Given the description of an element on the screen output the (x, y) to click on. 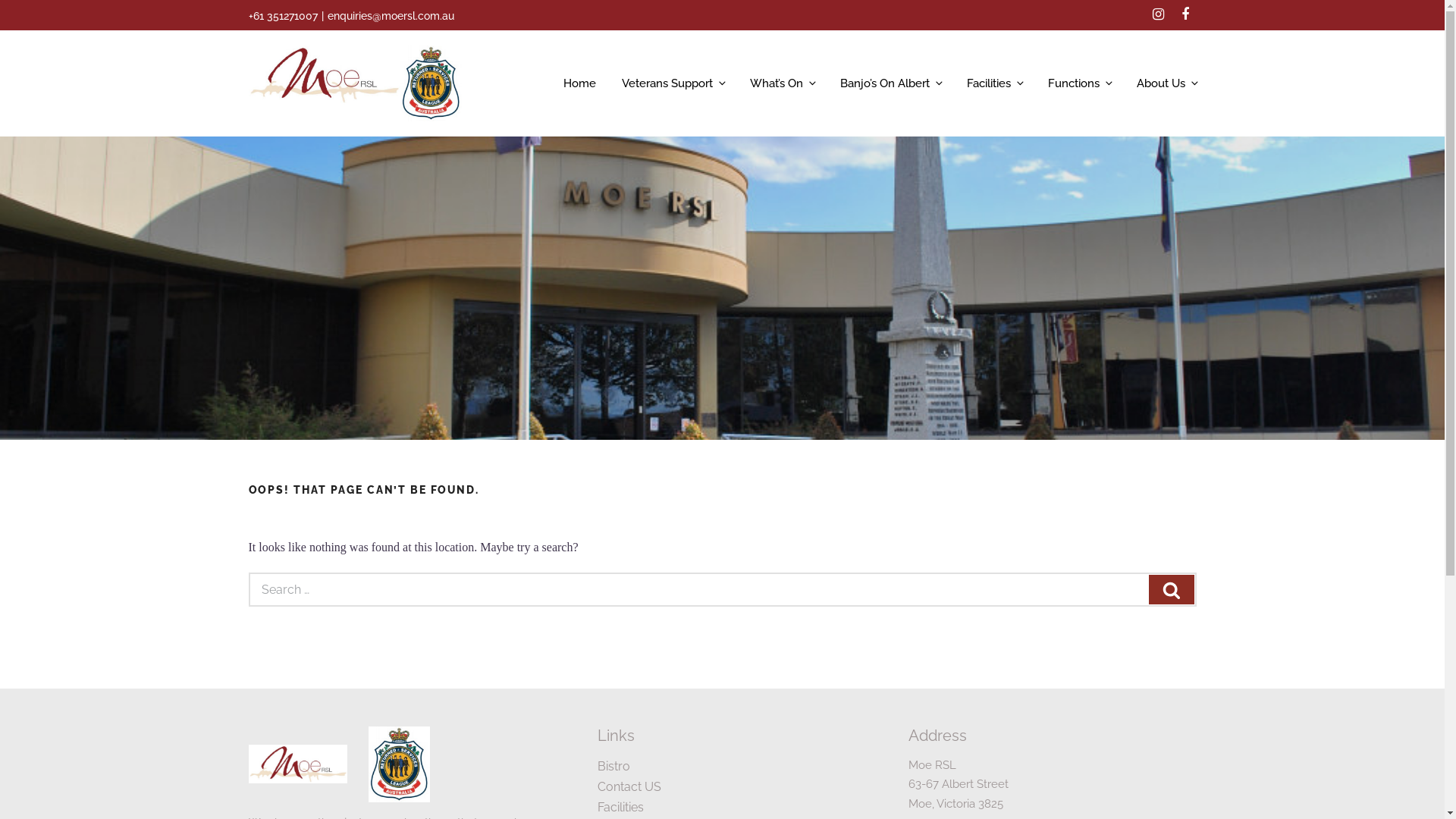
Home Element type: text (579, 83)
About Us Element type: text (1160, 83)
Contact US Element type: text (629, 786)
enquiries@moersl.com.au Element type: text (390, 15)
Functions Element type: text (1078, 83)
Search Element type: text (1170, 589)
Facilities Element type: text (620, 807)
Facilities Element type: text (994, 83)
+61 351271007 Element type: text (282, 15)
Bistro Element type: text (613, 766)
Veterans Support Element type: text (671, 83)
